Given the description of an element on the screen output the (x, y) to click on. 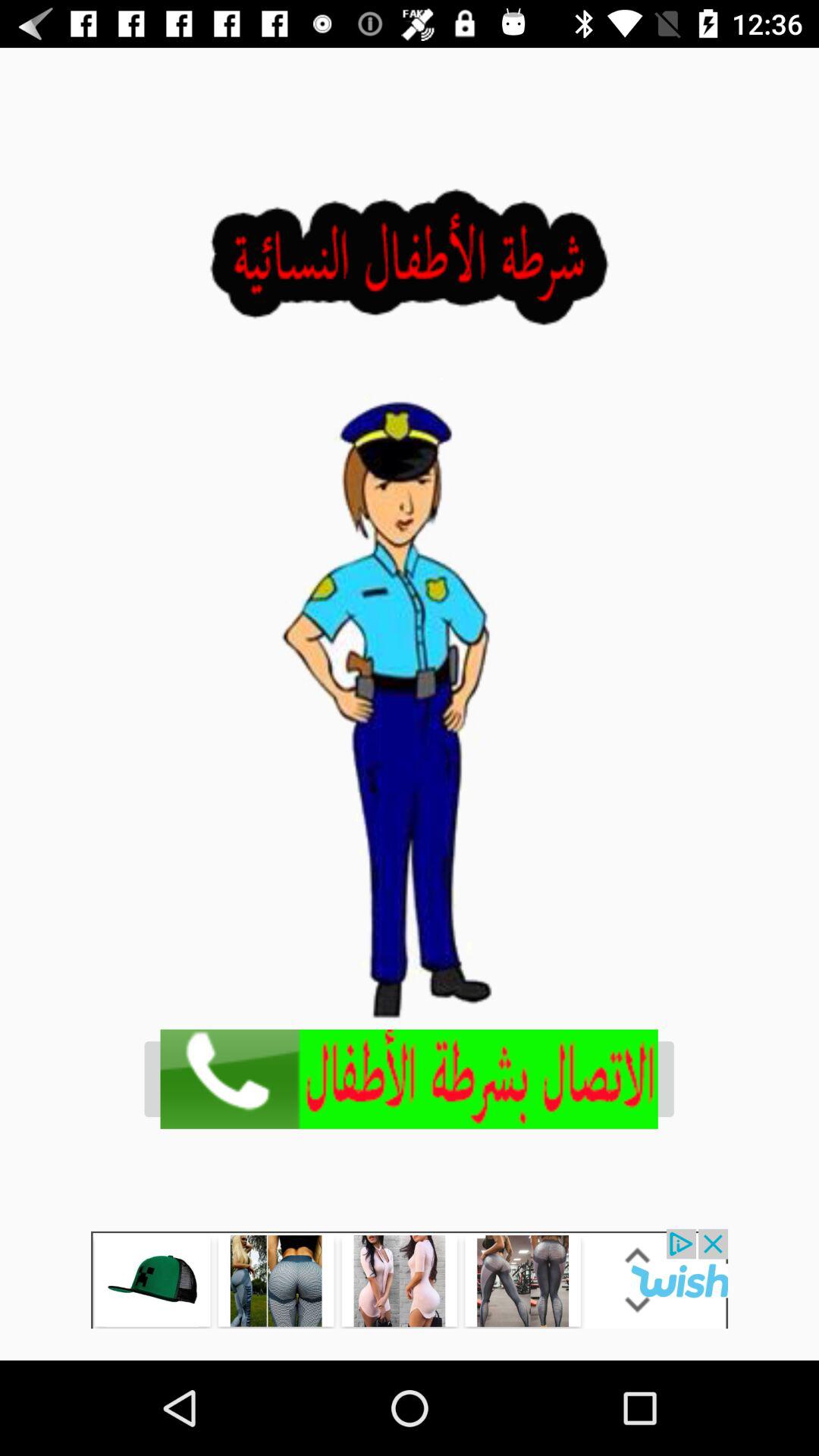
opens up advertisement (409, 1278)
